Given the description of an element on the screen output the (x, y) to click on. 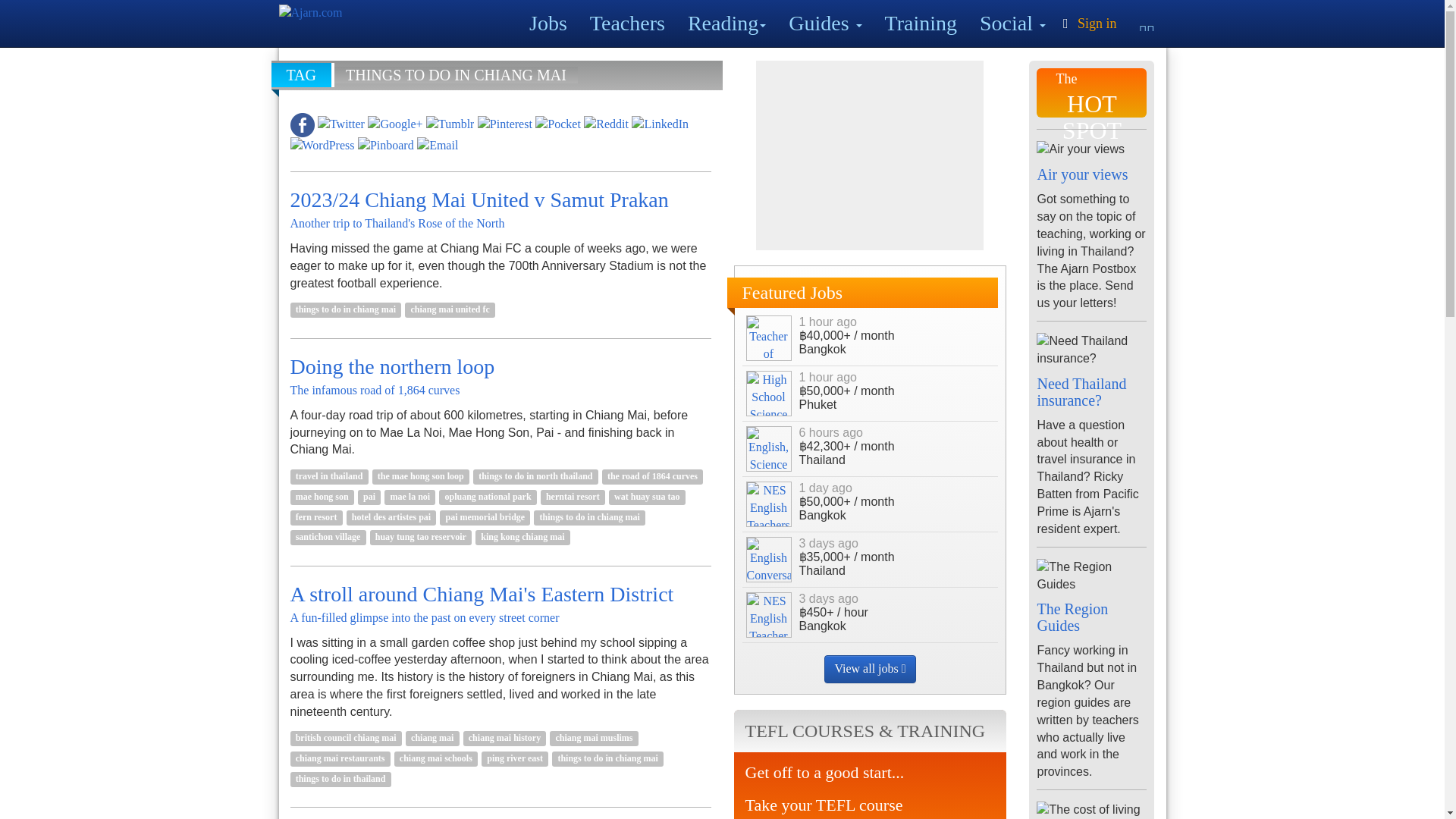
Pin it (504, 123)
Post to Tumblr (450, 123)
TAG (302, 74)
Add to Pocket (557, 123)
Reading (727, 23)
Guides (824, 23)
Share on Facebook (301, 123)
Email (437, 144)
Share on LinkedIn (659, 123)
Social (1012, 23)
